Given the description of an element on the screen output the (x, y) to click on. 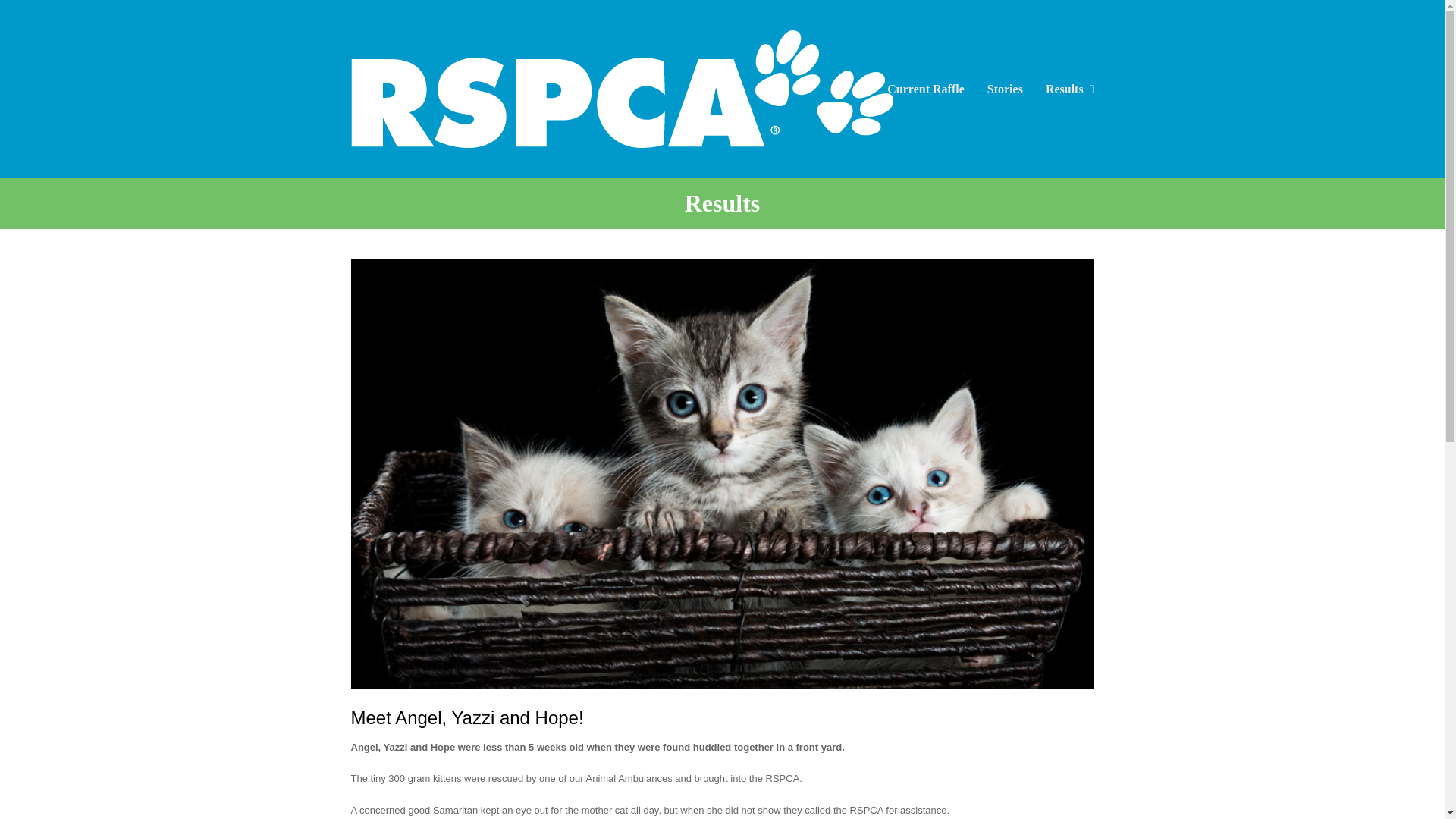
Results (1069, 88)
Stories (1004, 88)
RSPCA (621, 88)
Current Raffle (925, 88)
